Given the description of an element on the screen output the (x, y) to click on. 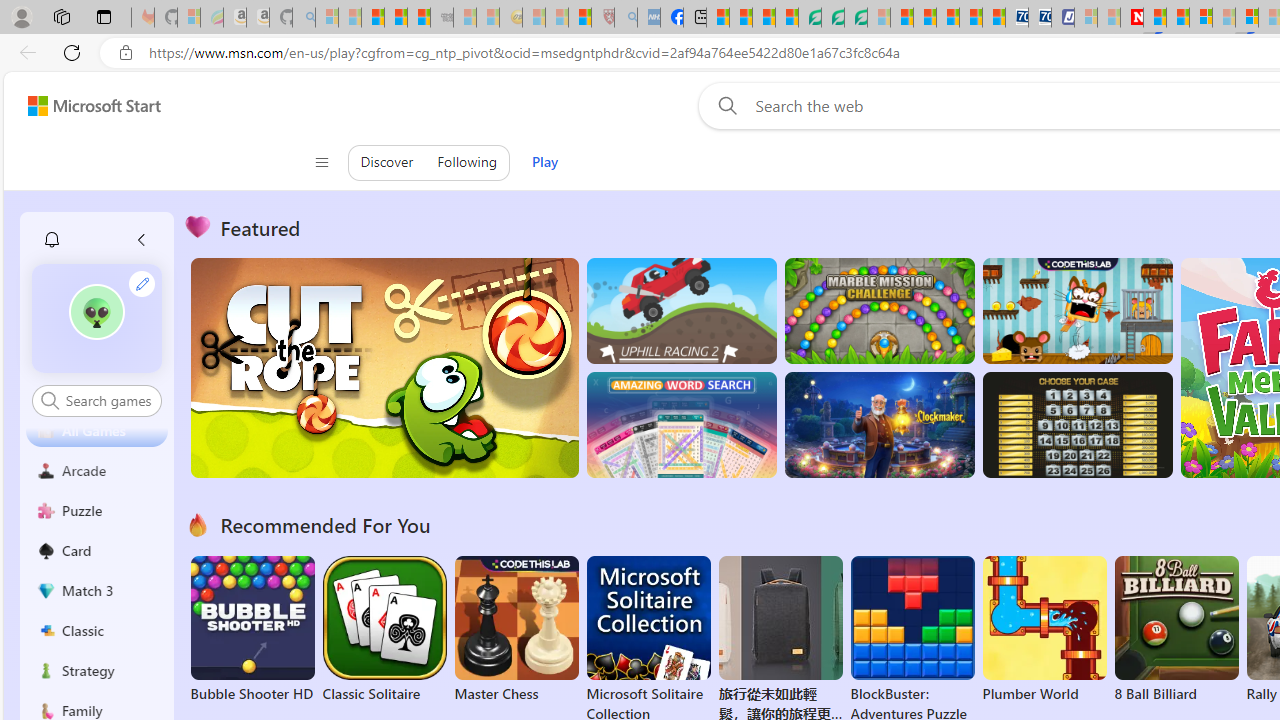
Classic Solitaire (384, 629)
Cheap Car Rentals - Save70.com (1016, 17)
""'s avatar (97, 318)
Marble Mission : Challenge (879, 310)
